Given the description of an element on the screen output the (x, y) to click on. 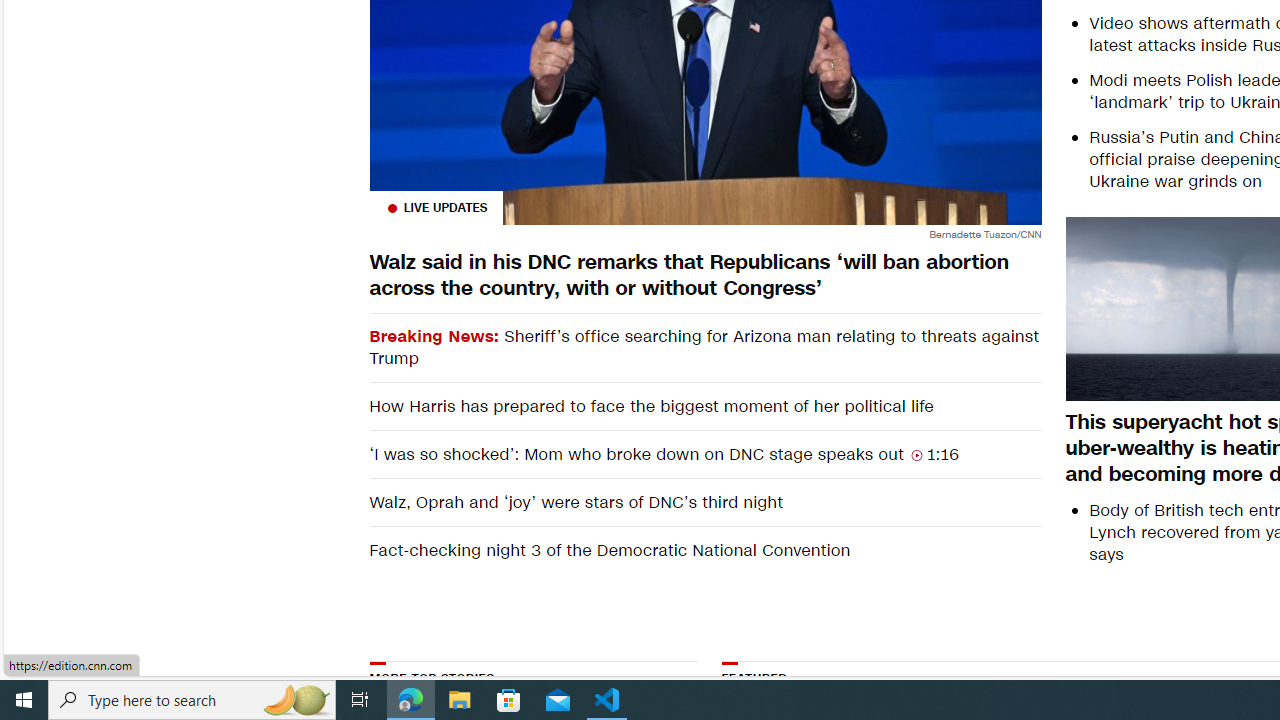
Class: container__video-duration-icon (916, 454)
Fact-checking night 3 of the Democratic National Convention (704, 550)
